Given the description of an element on the screen output the (x, y) to click on. 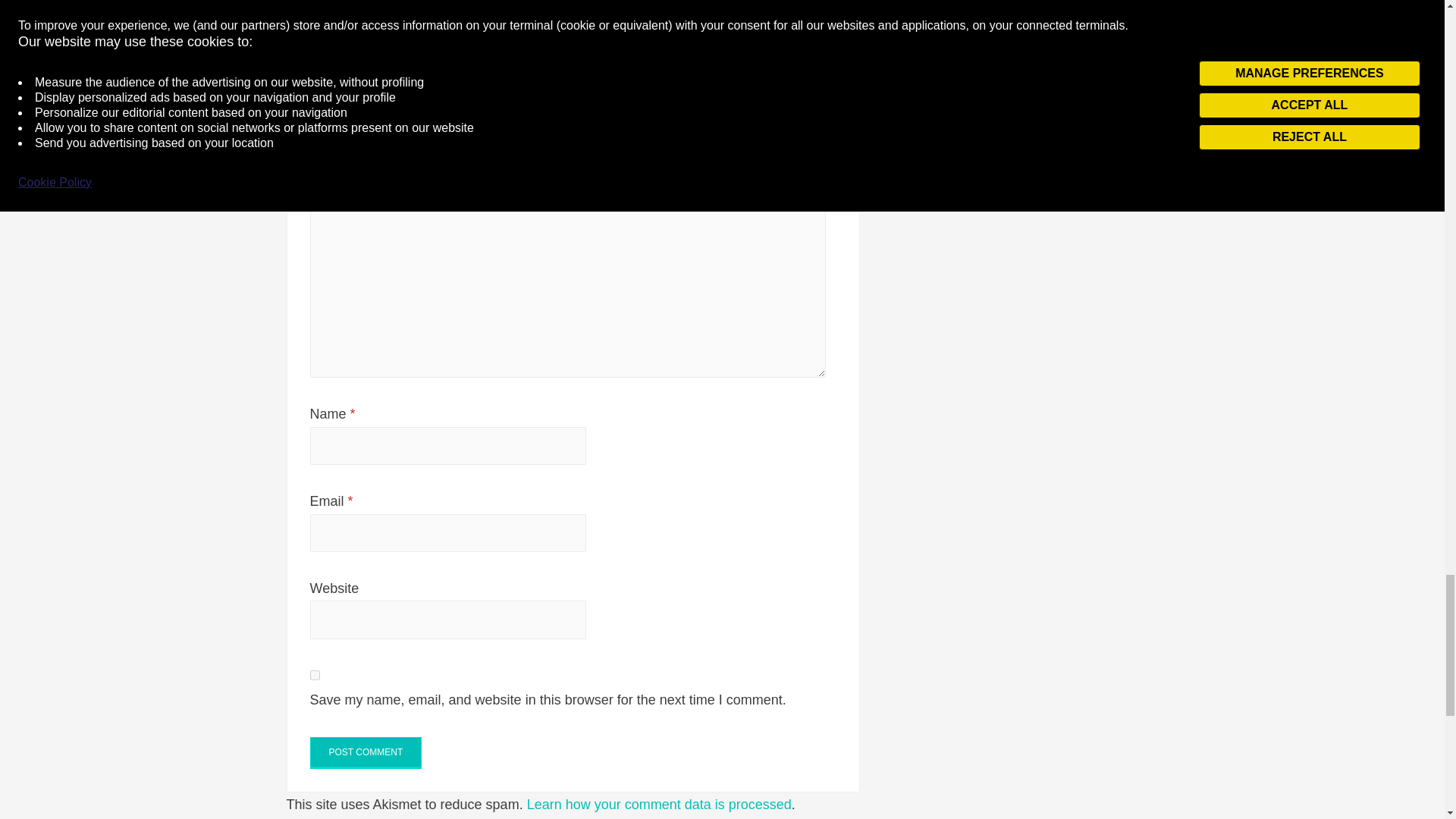
yes (313, 675)
Post Comment (365, 753)
